Given the description of an element on the screen output the (x, y) to click on. 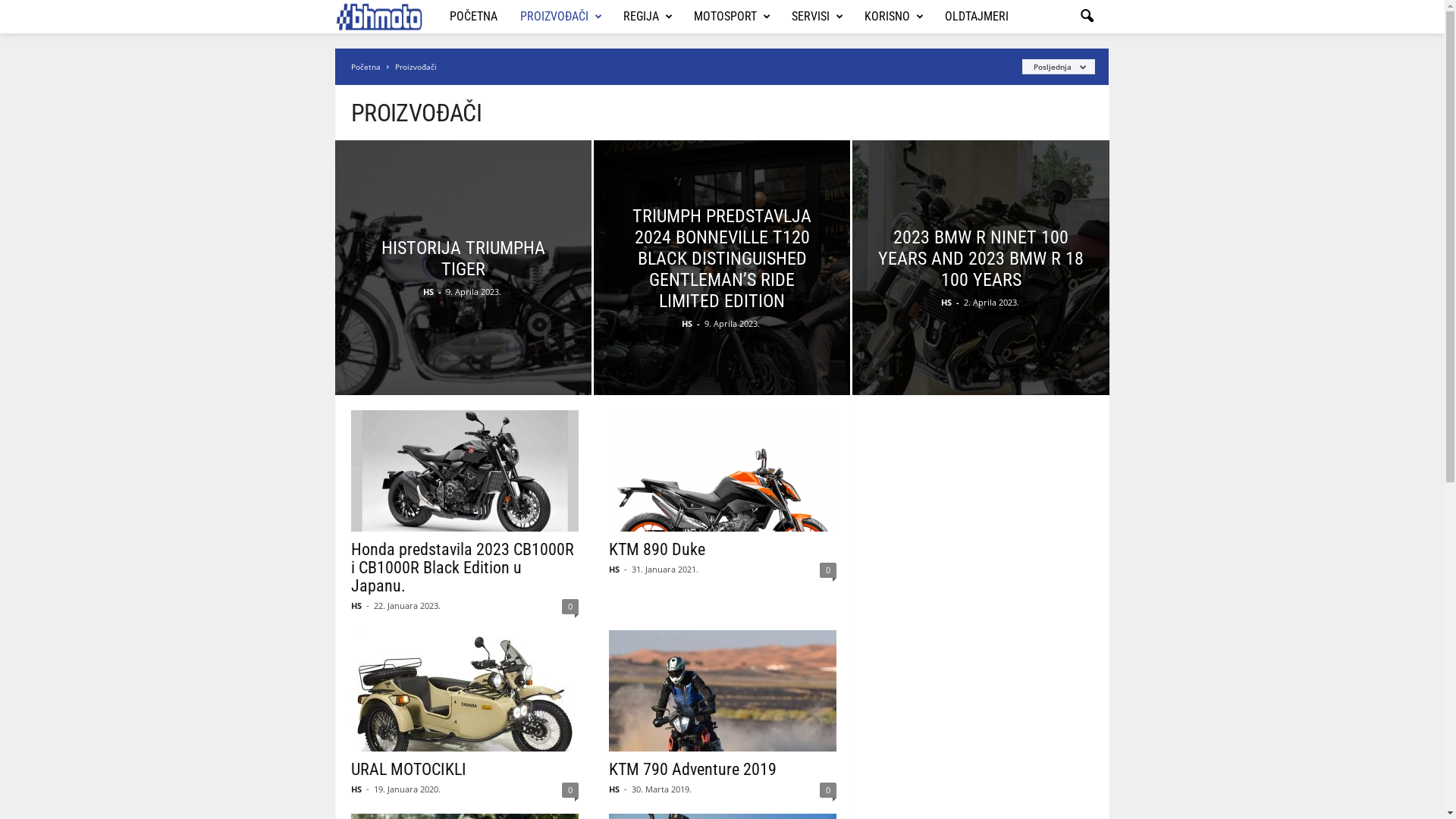
MOTOSPORT Element type: text (731, 16)
0 Element type: text (827, 569)
2023 BMW R nineT 100 Years and 2023 BMW R 18 100 Years Element type: hover (967, 275)
KTM 790 Adventure 2019 Element type: hover (722, 690)
KTM 890 Duke Element type: hover (722, 470)
HS Element type: text (613, 568)
KTM 790 Adventure 2019 Element type: text (692, 768)
2023 BMW R NINET 100 YEARS AND 2023 BMW R 18 100 YEARS Element type: text (980, 257)
URAL MOTOCIKLI Element type: text (408, 768)
URAL MOTOCIKLI Element type: hover (464, 690)
HS Element type: text (945, 301)
Historija  Triumpha Tiger Element type: hover (463, 290)
SERVISI Element type: text (816, 16)
HS Element type: text (428, 290)
Historija  Triumpha Tiger Element type: hover (450, 275)
REGIJA Element type: text (646, 16)
OLDTAJMERI Element type: text (976, 16)
0 Element type: text (827, 789)
BH Moto Element type: text (386, 17)
0 Element type: text (569, 606)
HS Element type: text (613, 788)
2023 BMW R nineT 100 Years and 2023 BMW R 18 100 Years Element type: hover (980, 291)
0 Element type: text (569, 789)
HISTORIJA TRIUMPHA TIGER Element type: text (463, 257)
KORISNO Element type: text (893, 16)
HS Element type: text (686, 322)
HS Element type: text (356, 605)
KTM 890 Duke Element type: text (656, 548)
HS Element type: text (356, 788)
